Given the description of an element on the screen output the (x, y) to click on. 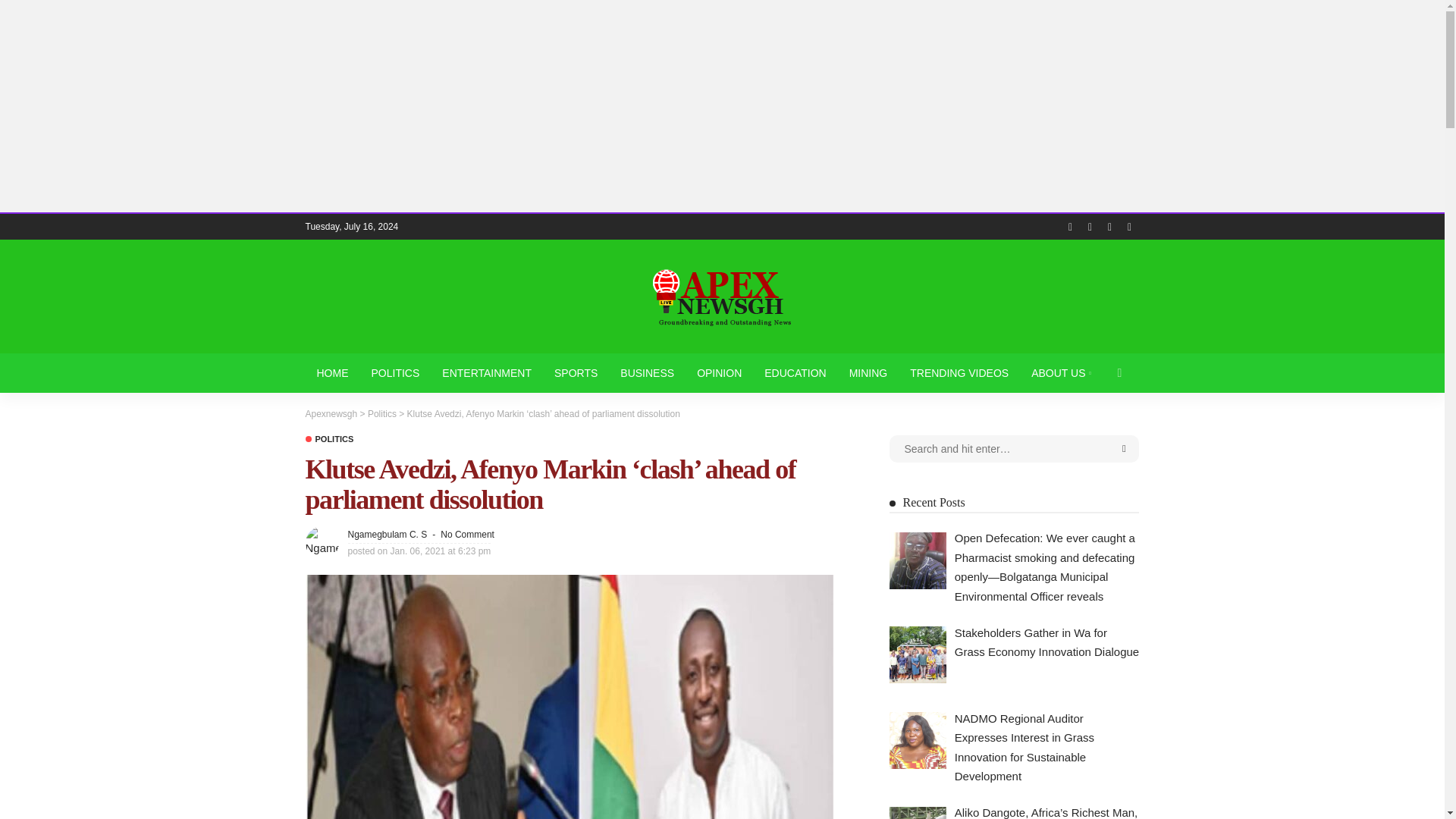
ABOUT US (1061, 372)
POLITICS (394, 372)
OPINION (718, 372)
MINING (868, 372)
TRENDING VIDEOS (959, 372)
Politics (382, 413)
search (1118, 372)
Apexnewsgh (721, 296)
Go to Apexnewsgh. (330, 413)
POLITICS (328, 438)
Apexnewsgh (330, 413)
SPORTS (575, 372)
ENTERTAINMENT (486, 372)
EDUCATION (794, 372)
